Given the description of an element on the screen output the (x, y) to click on. 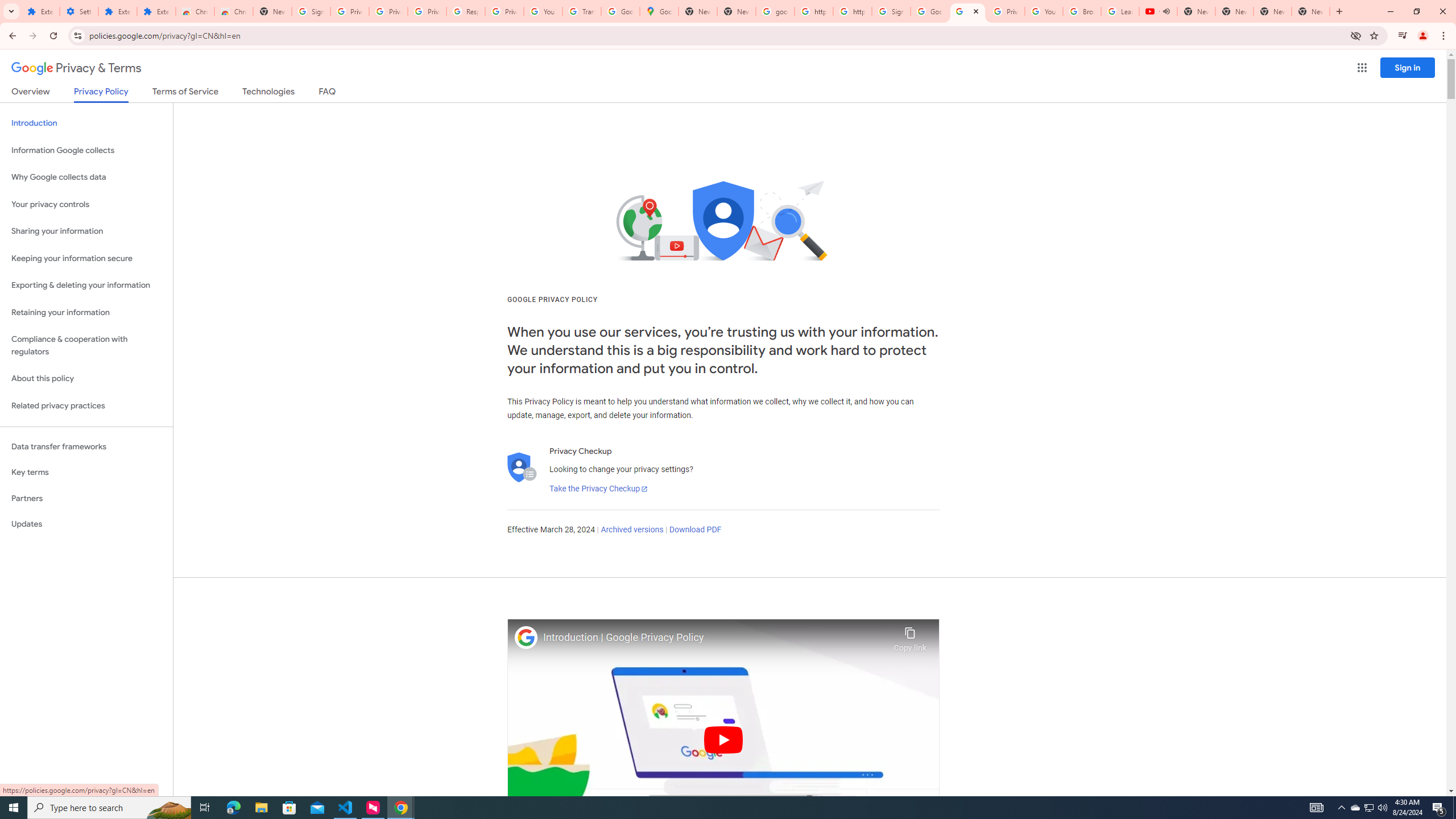
Take the Privacy Checkup (597, 488)
Extensions (156, 11)
